Given the description of an element on the screen output the (x, y) to click on. 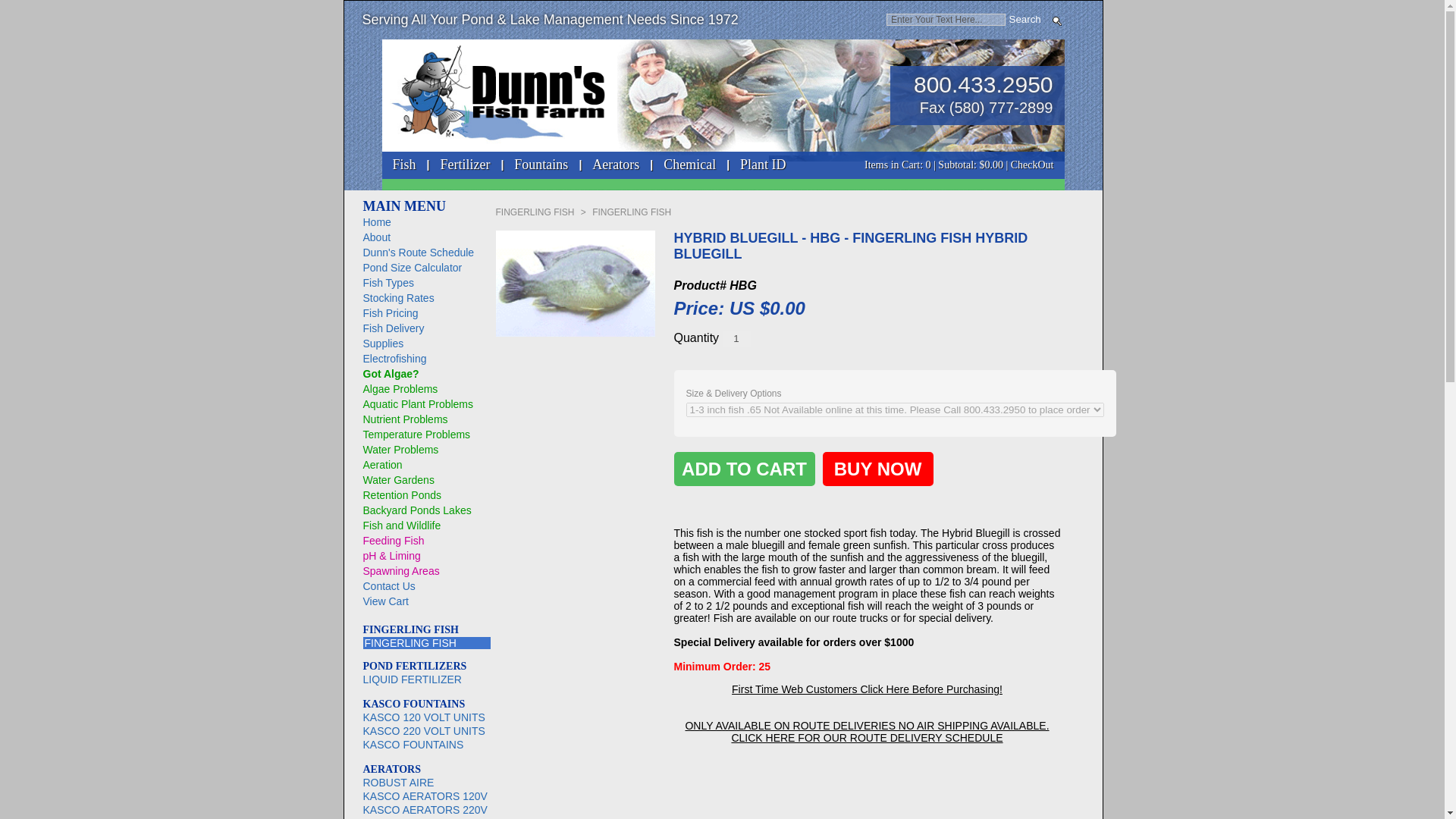
CheckOut (1032, 164)
KASCO 120 VOLT UNITS (425, 717)
Stocking Rates (397, 297)
Feeding Fish (392, 540)
Got Algae? (390, 373)
Fish (403, 168)
FINGERLING FISH (425, 643)
Retention Ponds (401, 495)
Aeration (381, 464)
Enter Your Text Here... (946, 19)
